Given the description of an element on the screen output the (x, y) to click on. 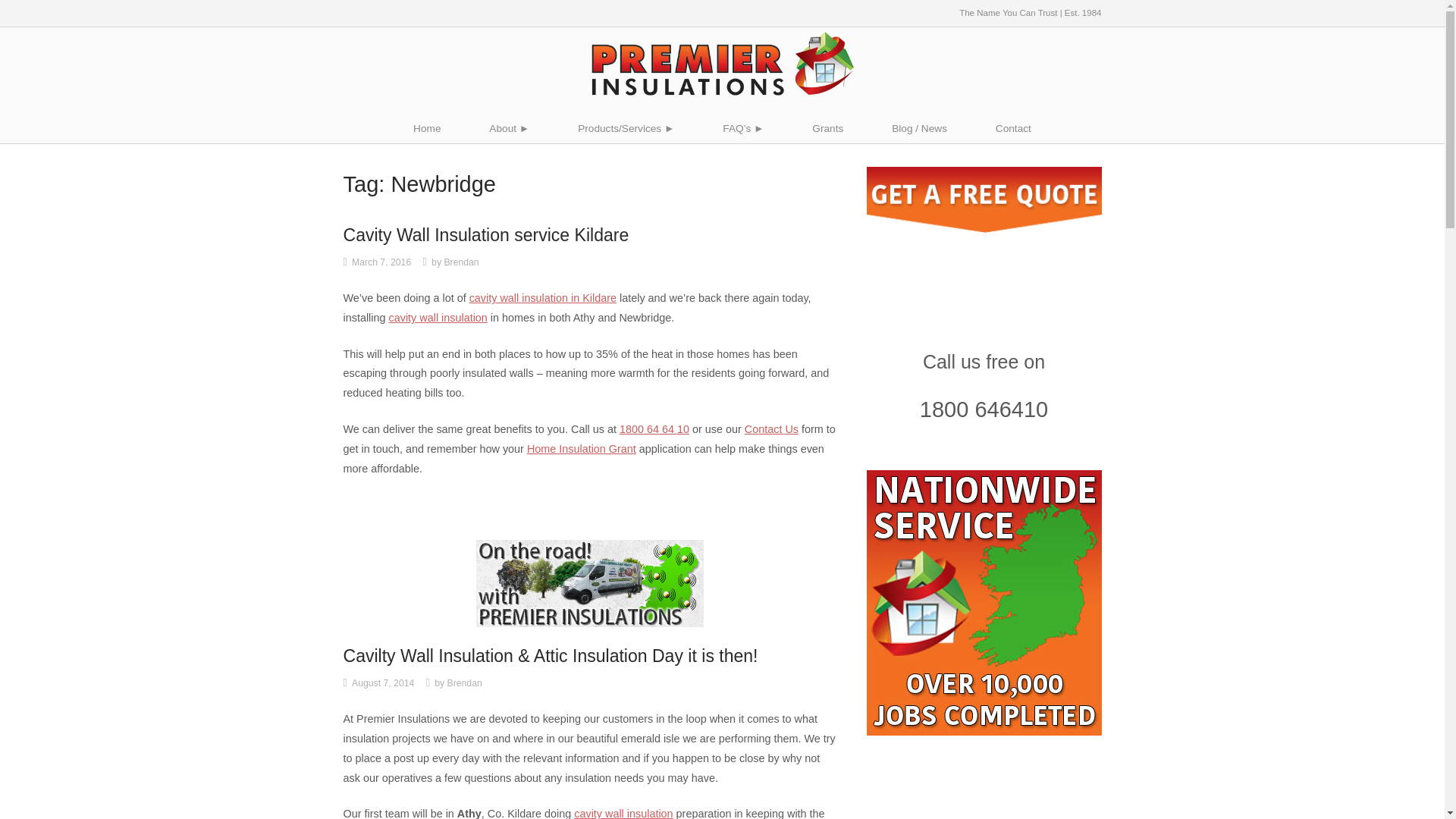
get a fee insulation quote (983, 200)
Cavity Wall Insulation (622, 813)
cavity wall insulation in Kildare (541, 297)
Home (426, 128)
Home (722, 61)
Brendan (461, 262)
March 7, 2016 (381, 262)
Grants (827, 128)
Cavity Wall Insulation service Kildare (485, 234)
Home Insulation Grant (581, 449)
Contact (1013, 128)
Contact Us (770, 428)
1800 64 64 10 (654, 428)
cavity wall insulation (437, 317)
